Given the description of an element on the screen output the (x, y) to click on. 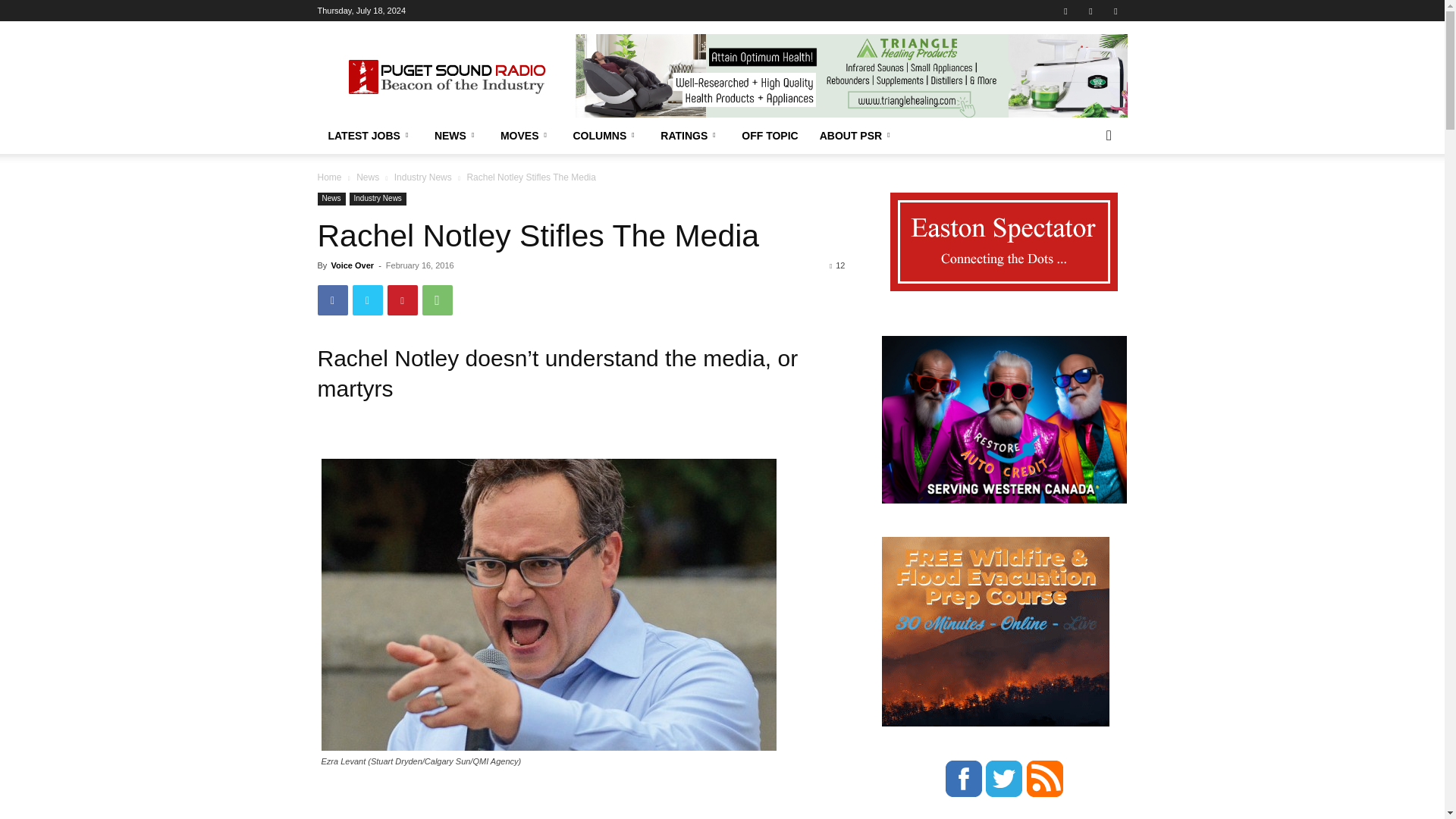
Pinterest (401, 300)
Facebook (1065, 10)
Twitter (1114, 10)
WhatsApp (436, 300)
Facebook (332, 300)
RSS (1090, 10)
View all posts in Industry News (422, 176)
View all posts in News (367, 176)
Twitter (366, 300)
